Given the description of an element on the screen output the (x, y) to click on. 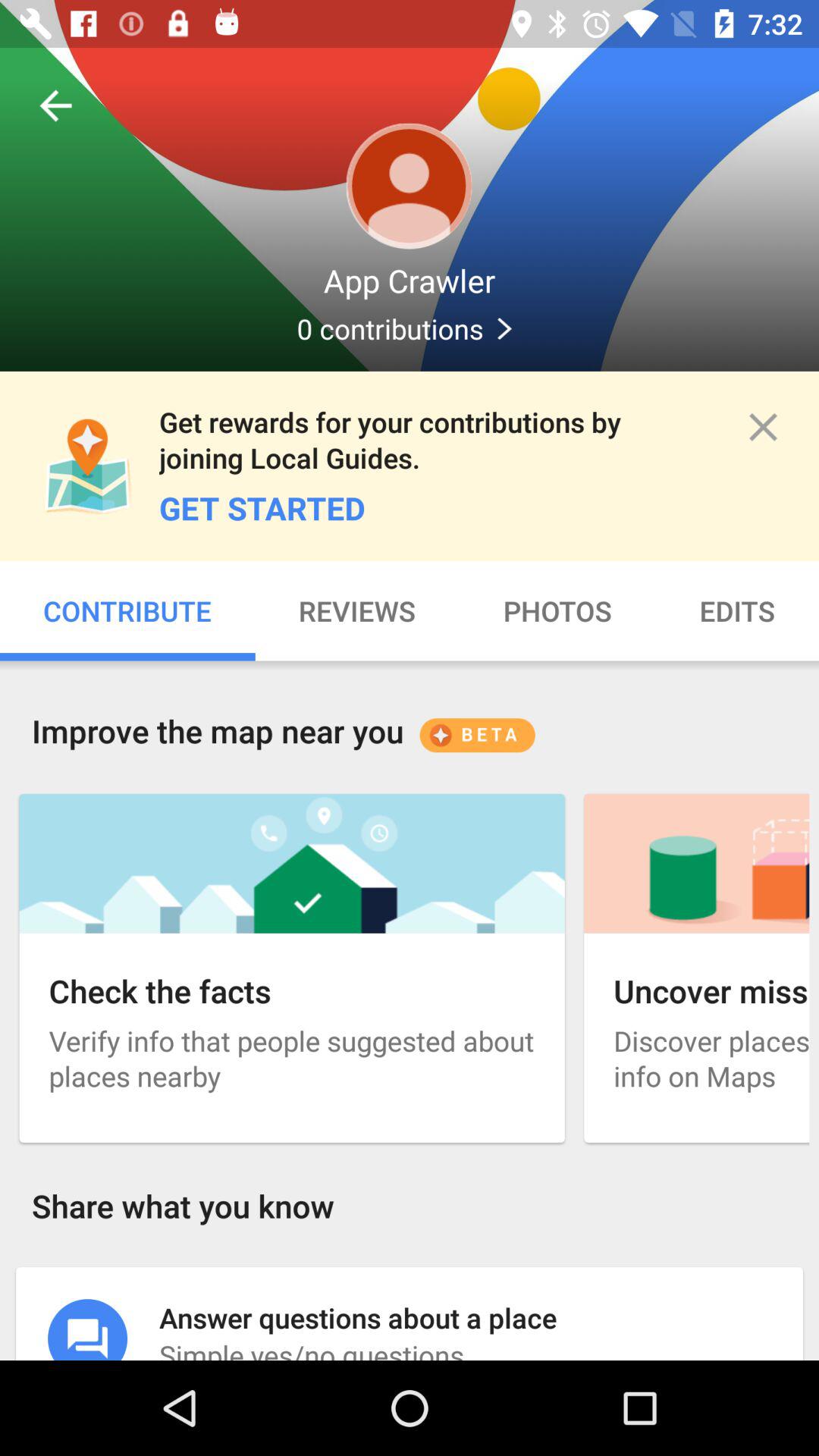
launch item to the left of photos (357, 610)
